Given the description of an element on the screen output the (x, y) to click on. 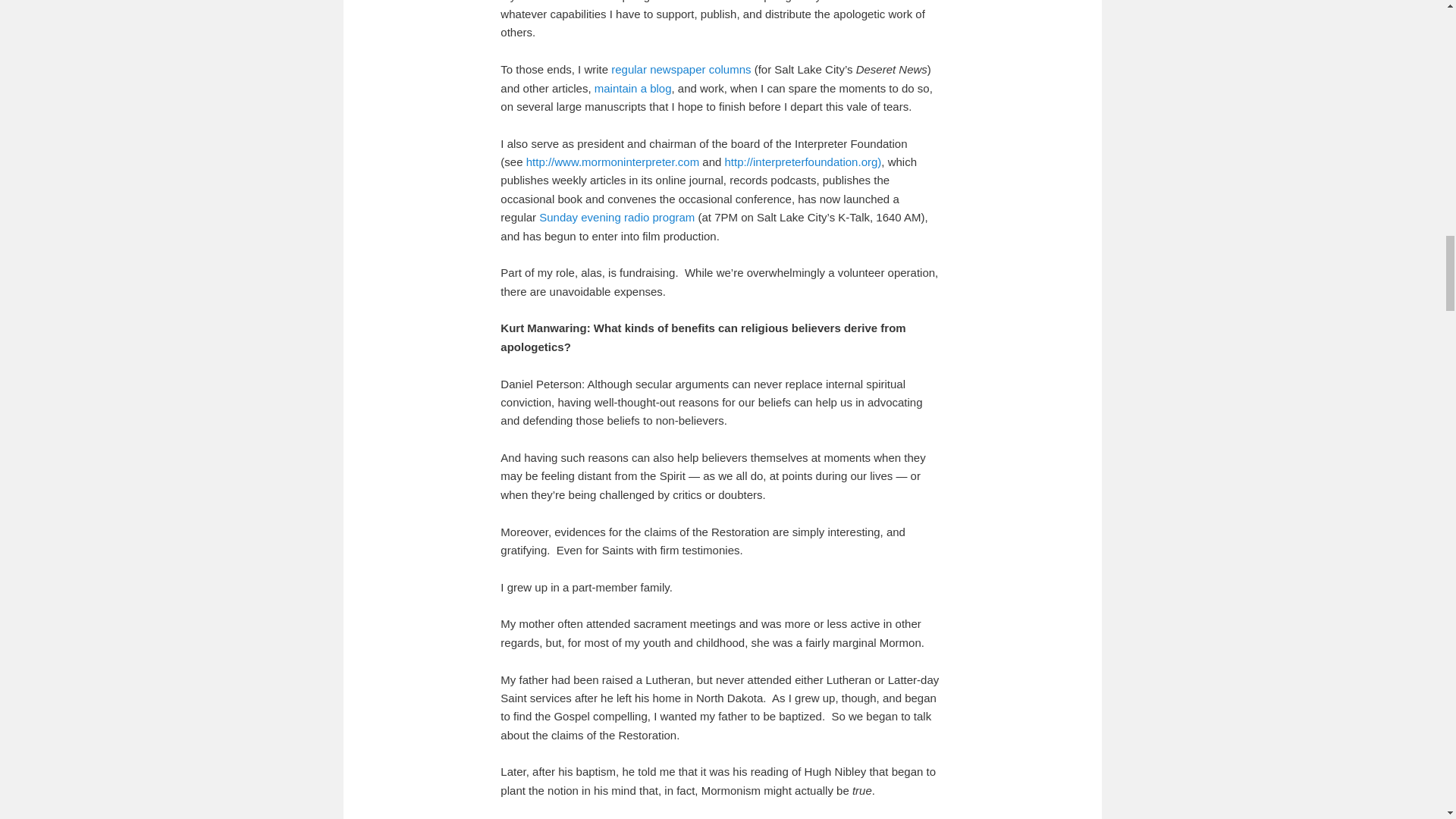
maintain a blog (632, 88)
Sunday evening radio program (616, 216)
regular newspaper columns (681, 69)
